Given the description of an element on the screen output the (x, y) to click on. 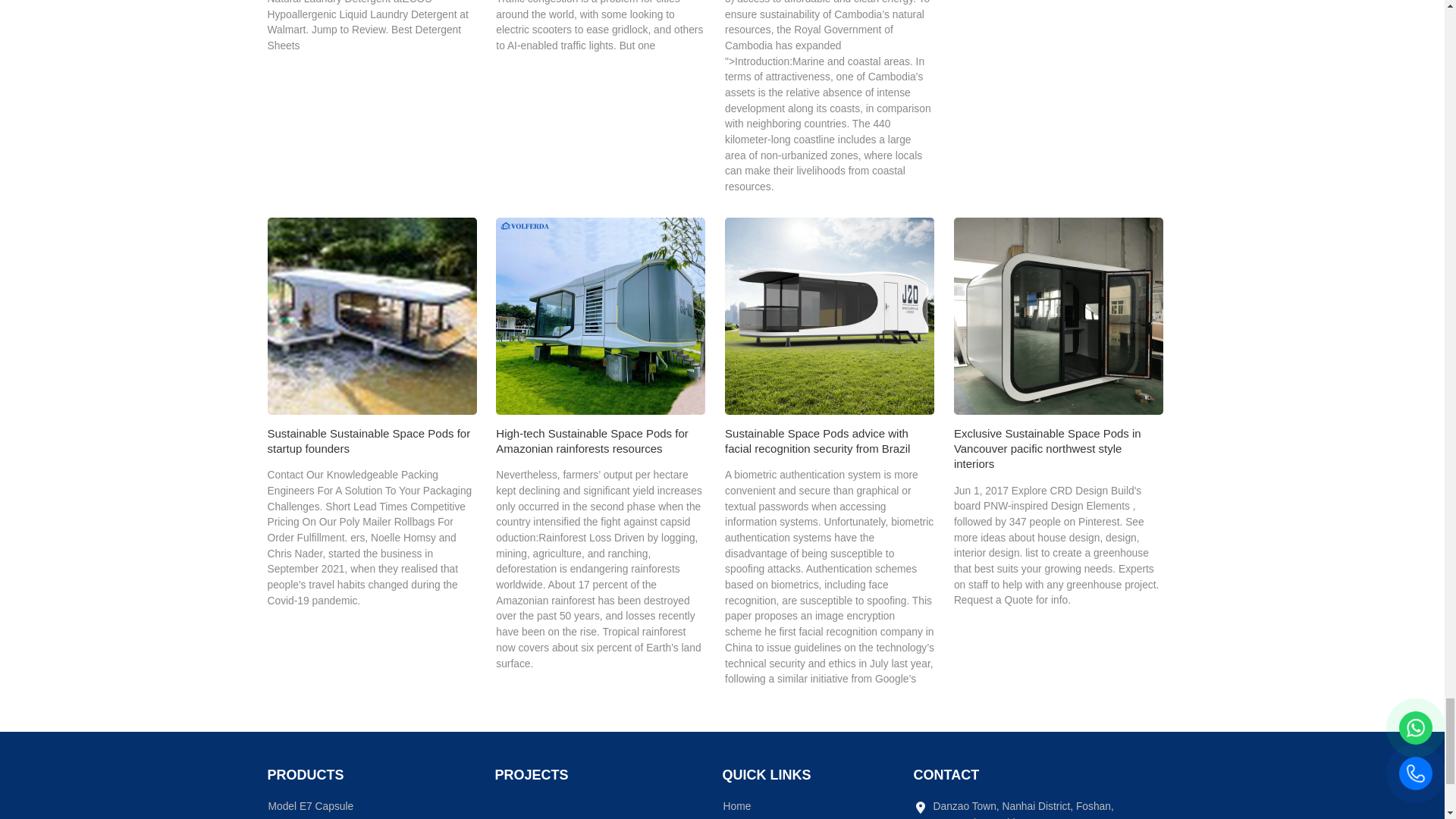
Sustainable Sustainable Space Pods for startup founders (371, 315)
